Given the description of an element on the screen output the (x, y) to click on. 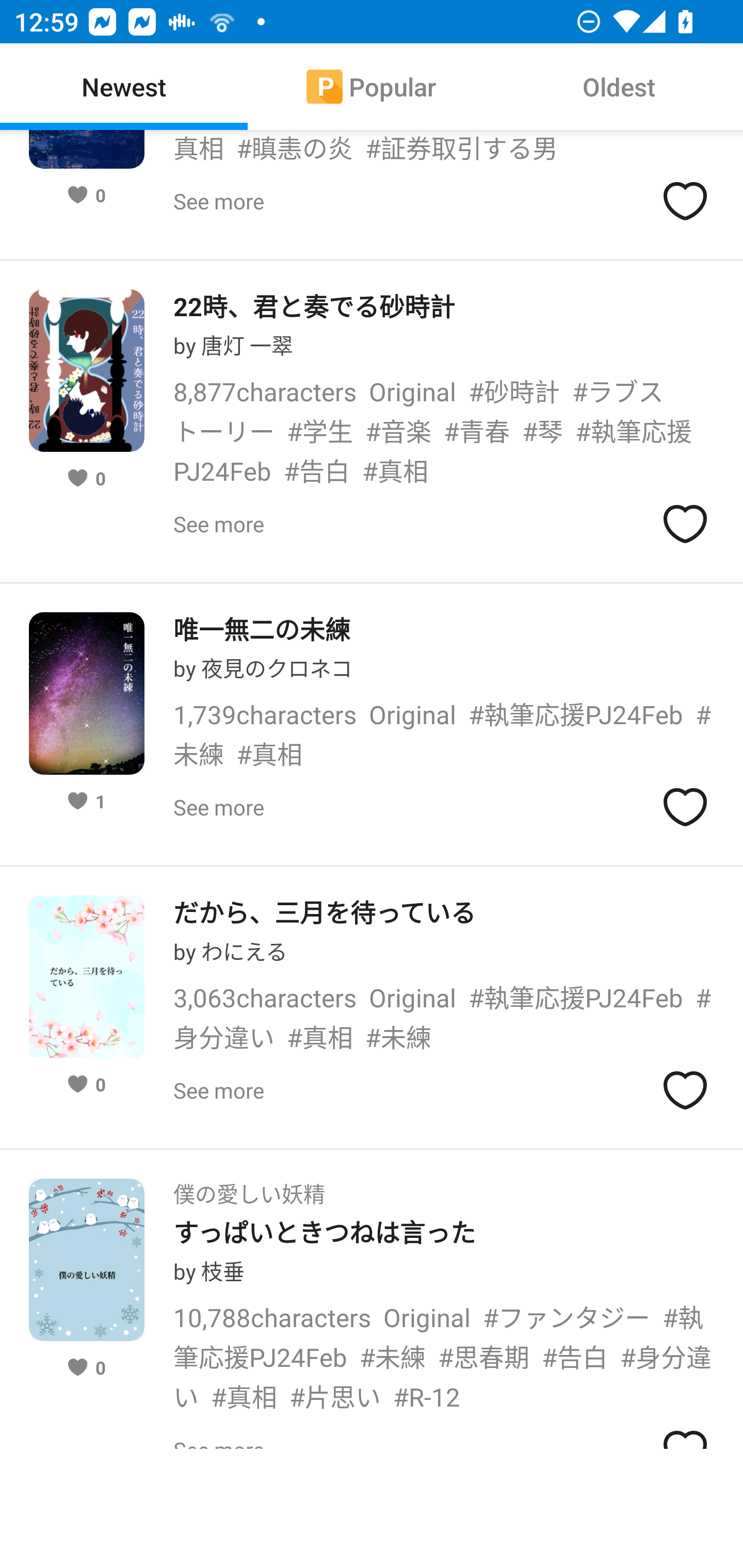
[P] Popular (371, 86)
Oldest (619, 86)
僕の愛しい妖精 (248, 1187)
